Given the description of an element on the screen output the (x, y) to click on. 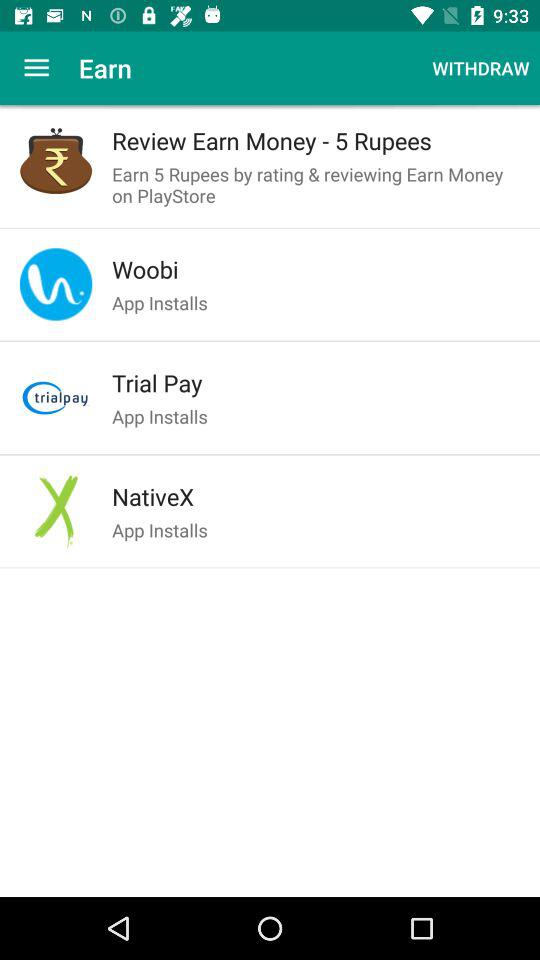
choose the woobi item (316, 269)
